Given the description of an element on the screen output the (x, y) to click on. 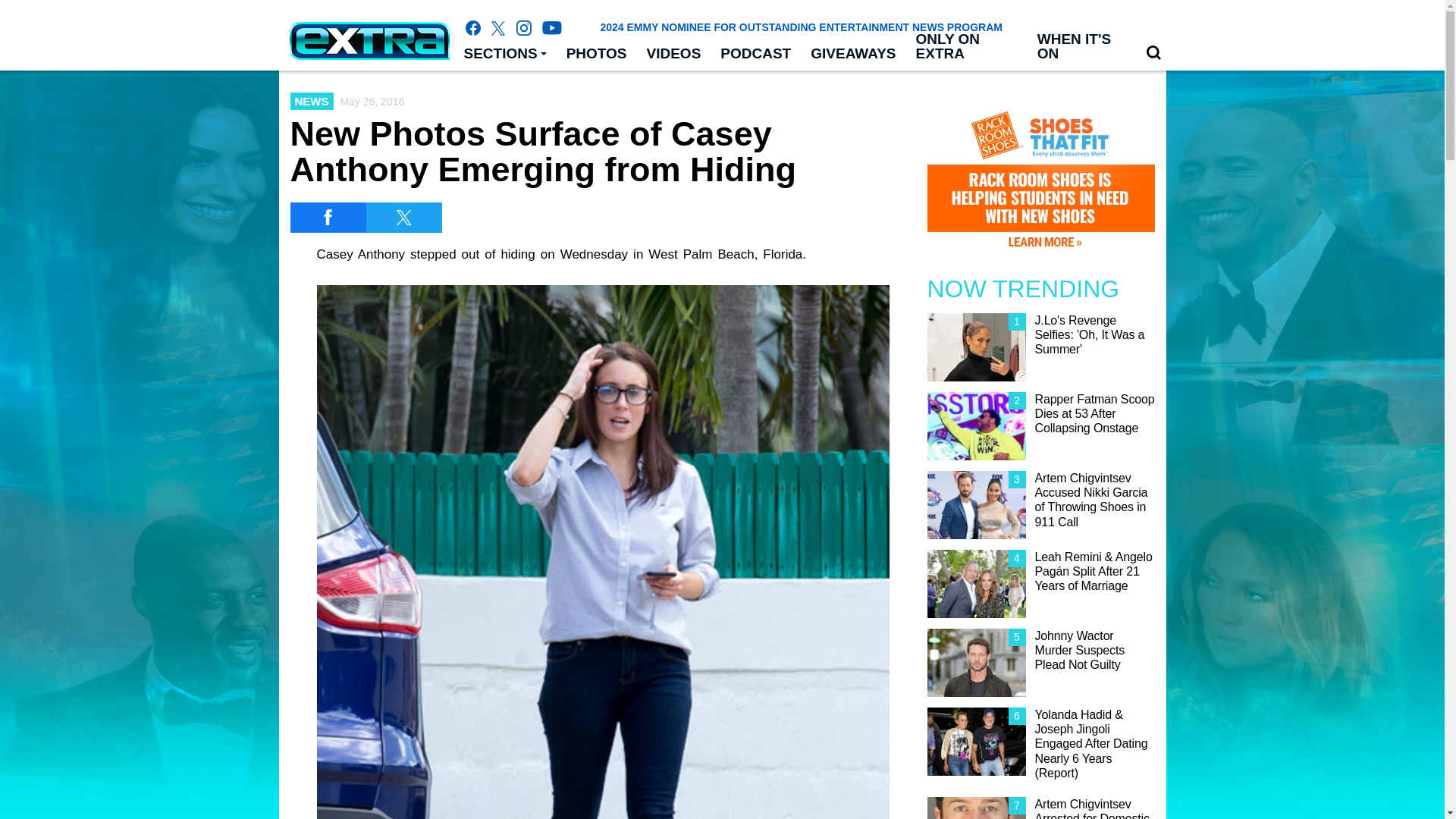
PHOTOS (596, 54)
Search (1153, 53)
VIDEOS (674, 54)
NEWS (311, 100)
WHEN IT'S ON (1080, 47)
SECTIONS (504, 54)
GIVEAWAYS (852, 54)
PODCAST (755, 54)
Search (1153, 52)
